Given the description of an element on the screen output the (x, y) to click on. 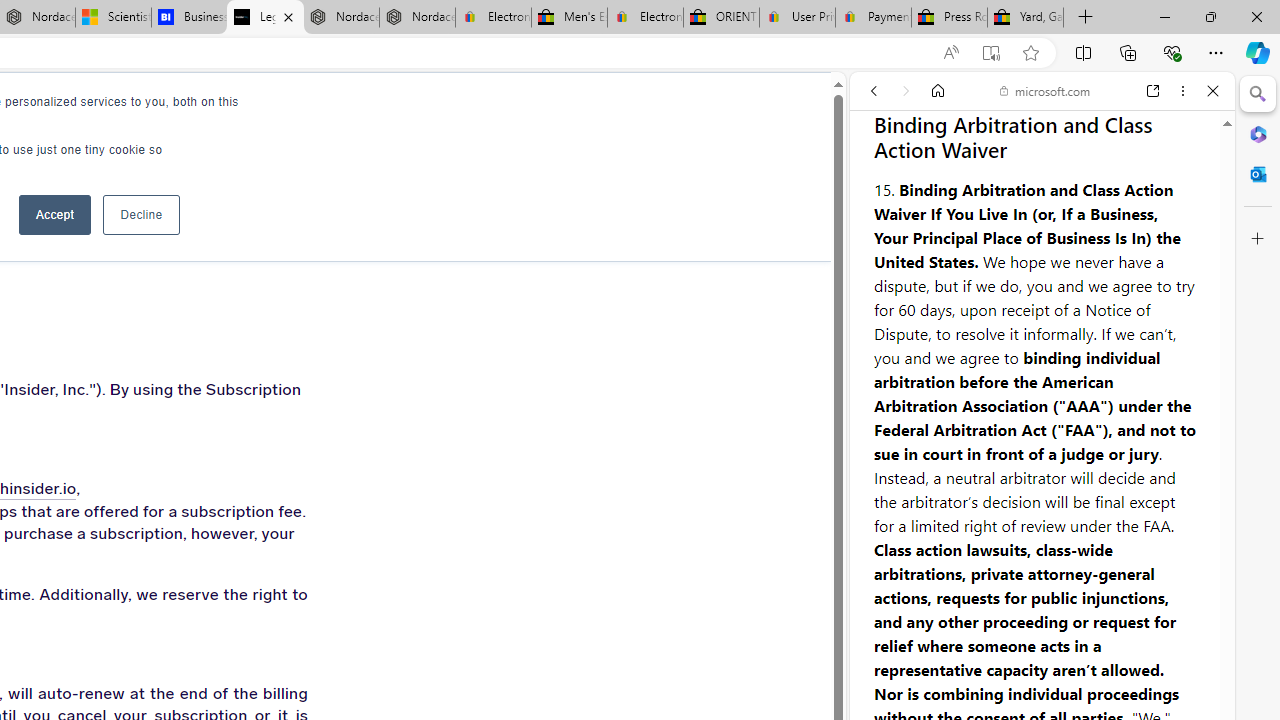
CAREERS (180, 110)
User Privacy Notice | eBay (797, 17)
Accept (54, 214)
CONTACT US (377, 110)
Minimize Search pane (1258, 94)
